Given the description of an element on the screen output the (x, y) to click on. 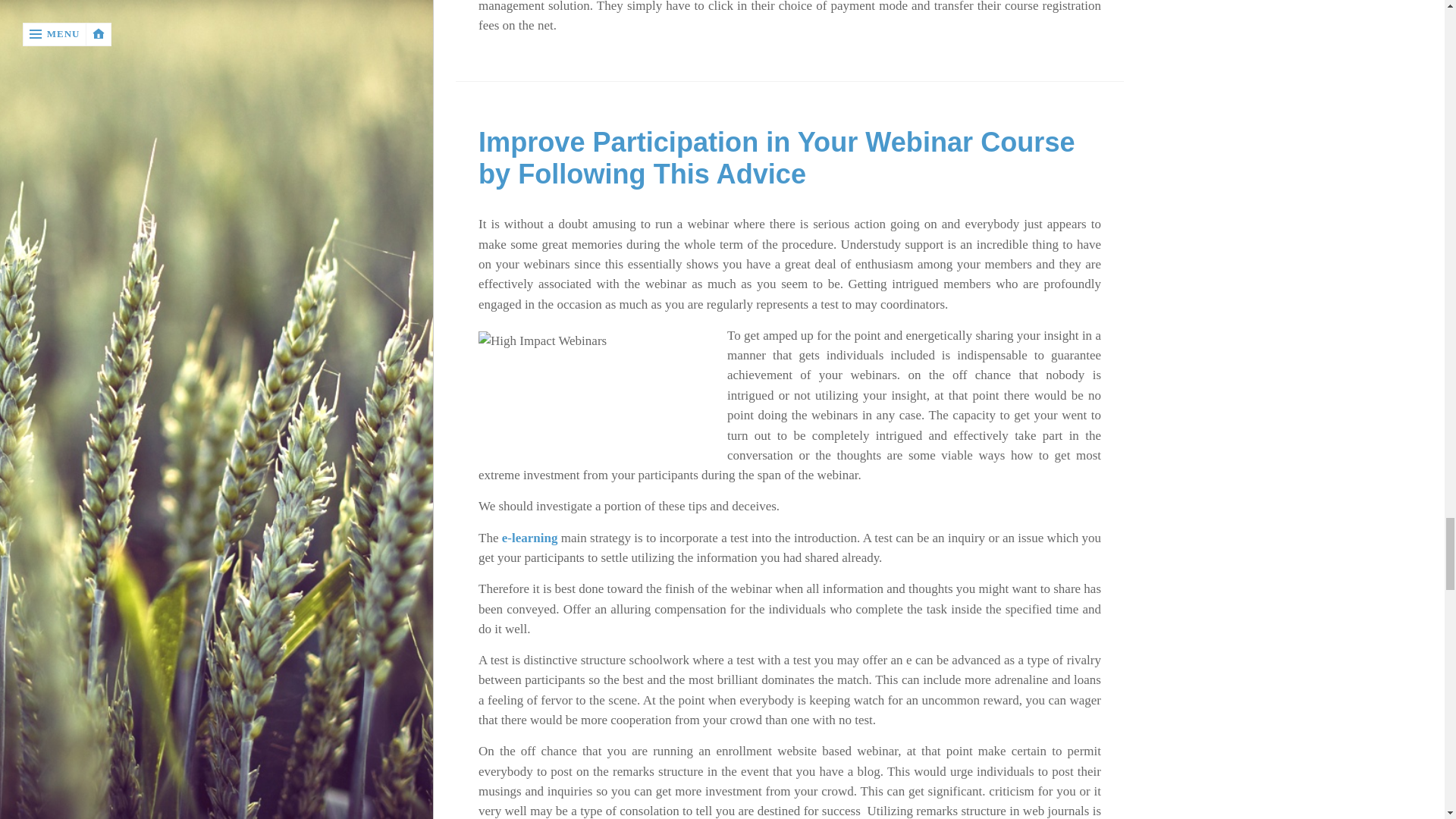
e-learning (529, 537)
